Given the description of an element on the screen output the (x, y) to click on. 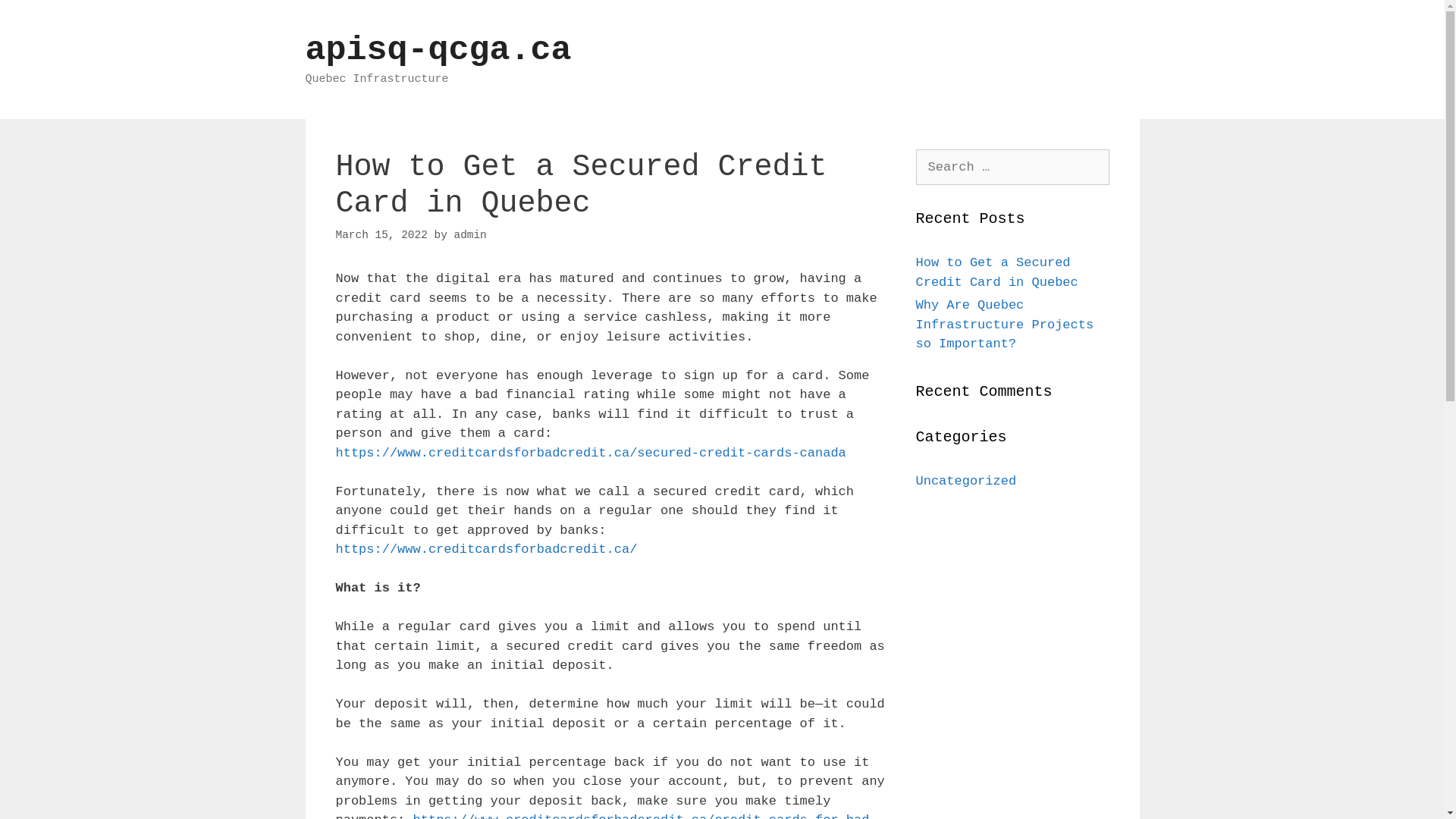
How to Get a Secured Credit Card in Quebec Element type: text (997, 272)
admin Element type: text (469, 235)
Uncategorized Element type: text (966, 480)
apisq-qcga.ca Element type: text (437, 50)
https://www.creditcardsforbadcredit.ca/ Element type: text (486, 549)
Why Are Quebec Infrastructure Projects so Important? Element type: text (1005, 324)
Search Element type: text (39, 18)
Search for: Element type: hover (1012, 166)
